Given the description of an element on the screen output the (x, y) to click on. 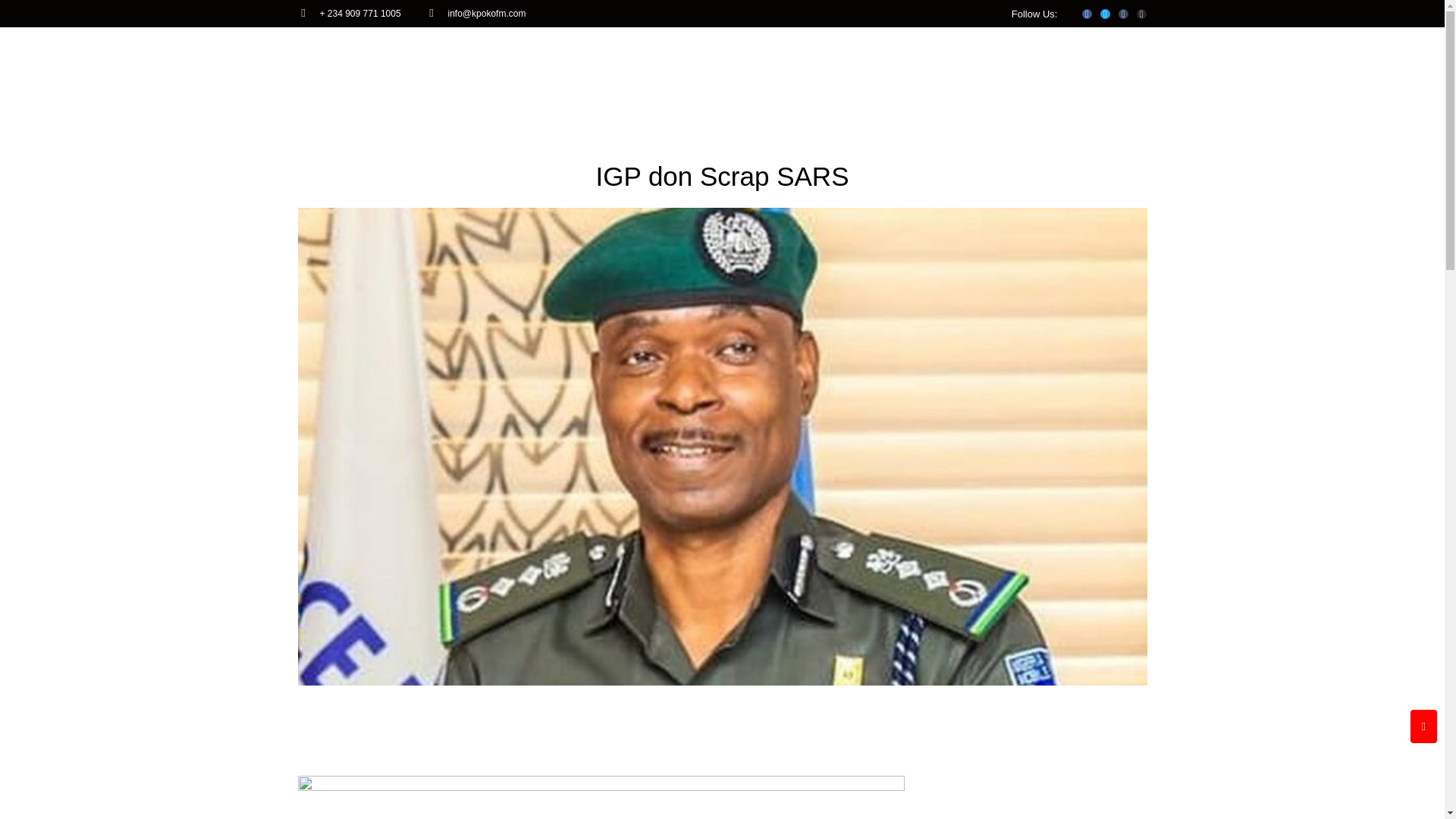
Home (585, 52)
Contact Us (917, 52)
Management (815, 52)
News (727, 52)
OAPs (657, 52)
Listen Live (1009, 52)
